Given the description of an element on the screen output the (x, y) to click on. 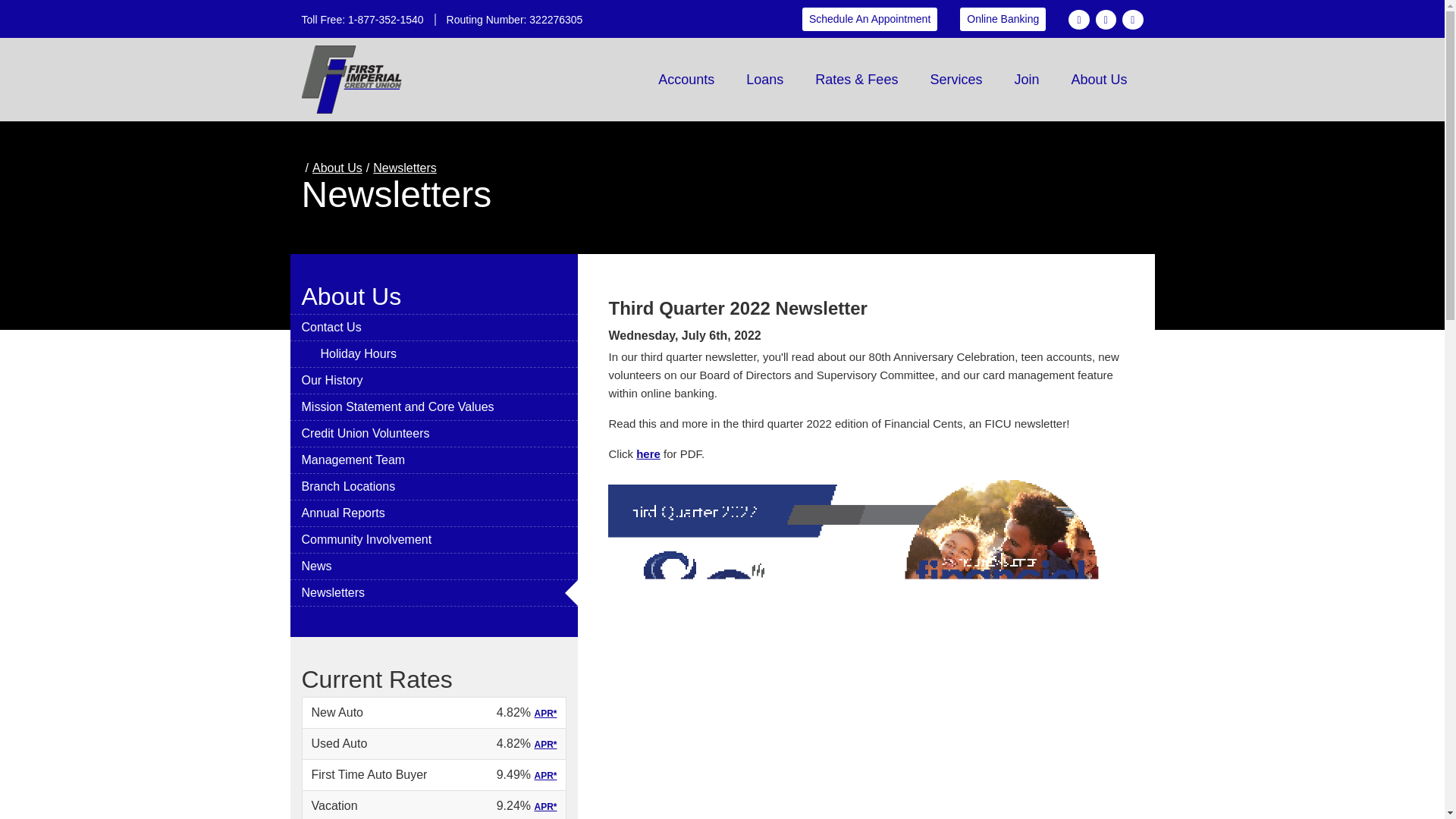
New Auto APR (545, 713)
First Time Auto Buyer APR (545, 775)
First Imperial Credit Union (352, 79)
Services (955, 79)
Skip to main content (752, 29)
Vacation APR (545, 806)
Used Auto APR (545, 744)
Accounts (686, 79)
